Given the description of an element on the screen output the (x, y) to click on. 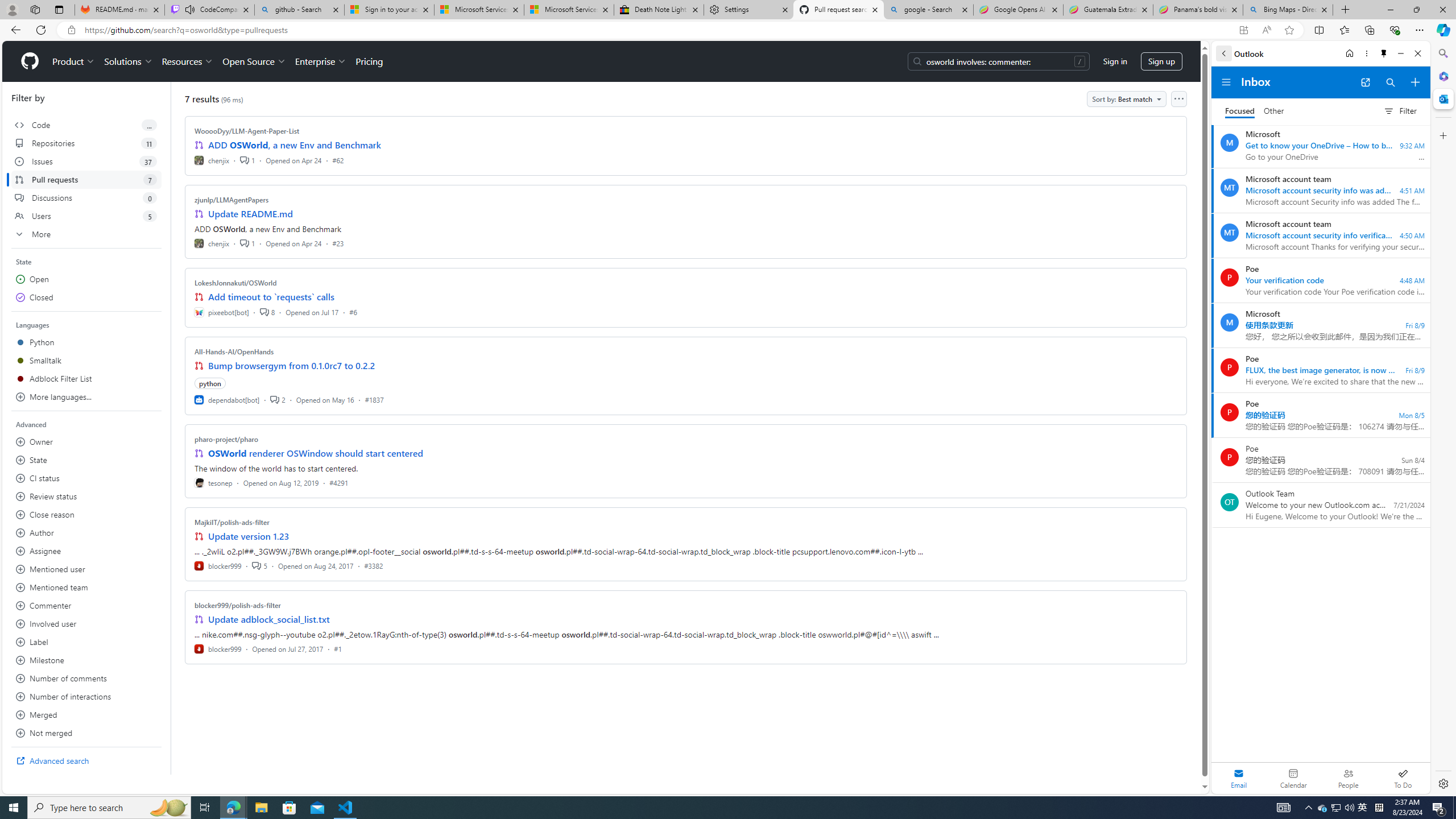
Folder navigation (1225, 82)
Enterprise (319, 60)
Pricing (368, 60)
Resources (187, 60)
blocker999 (218, 648)
#23 (337, 242)
8 (267, 311)
Focused (1239, 110)
